Given the description of an element on the screen output the (x, y) to click on. 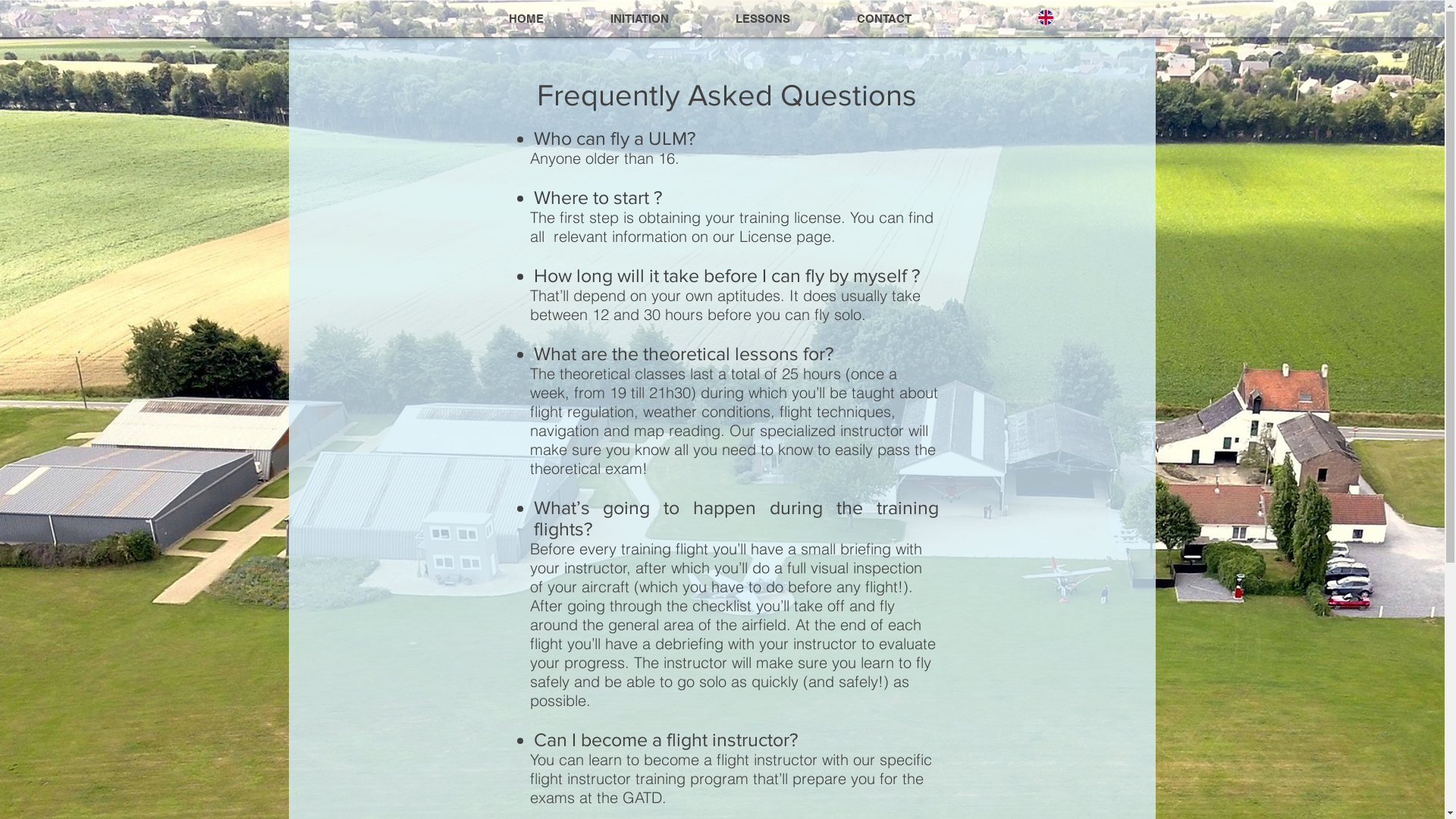
HOME Element type: text (526, 18)
INITIATION Element type: text (638, 18)
LESSONS Element type: text (762, 18)
CONTACT Element type: text (883, 18)
